Given the description of an element on the screen output the (x, y) to click on. 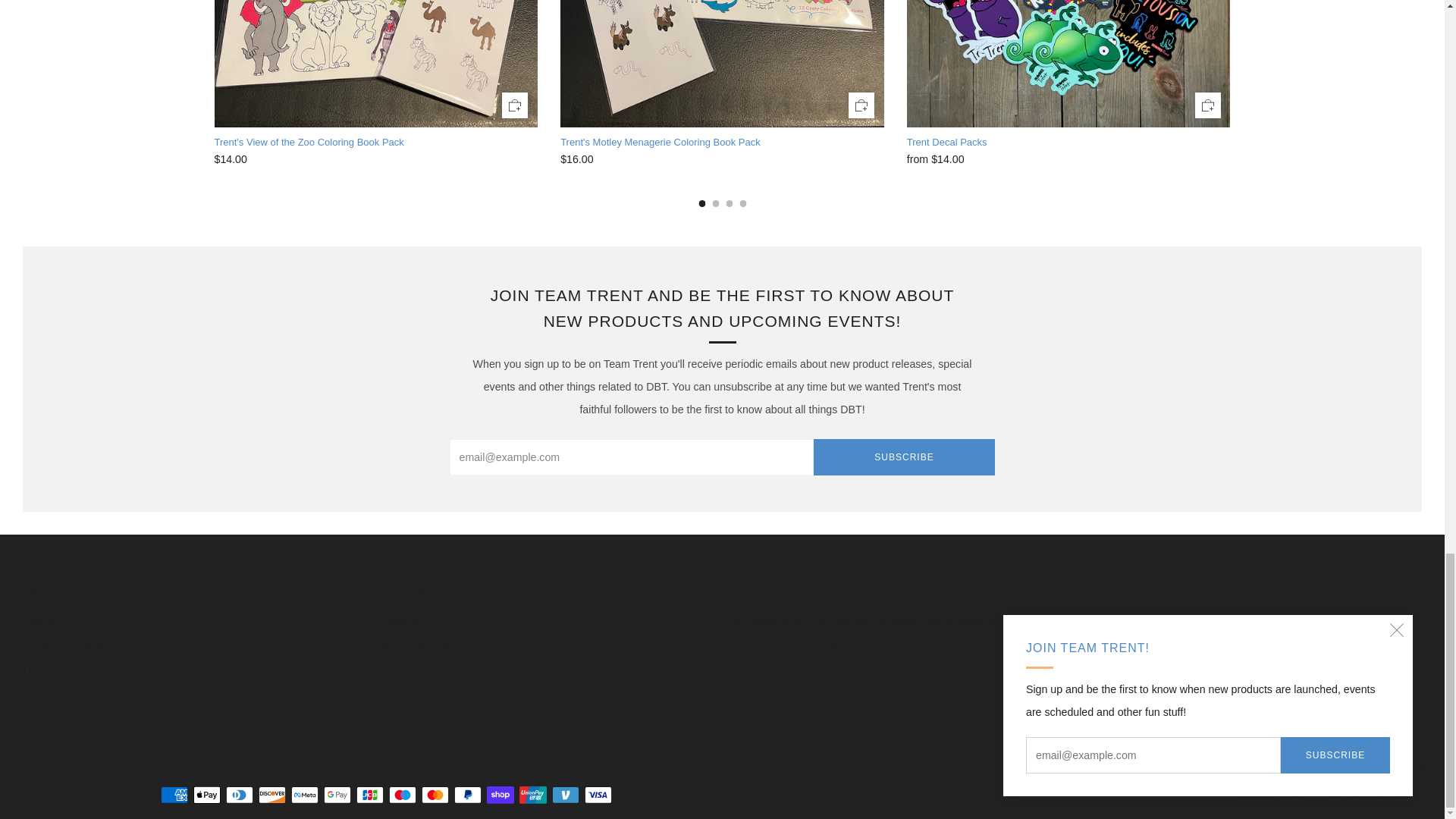
Trent Decal Packs (1068, 142)
Trent Decal Packs (1068, 158)
Trent's Motley Menagerie Coloring Book Pack (721, 142)
Trent's Motley Menagerie Coloring Book Pack (721, 158)
Trent's View of the Zoo Coloring Book Pack (375, 158)
Trent's View of the Zoo Coloring Book Pack (375, 142)
